Given the description of an element on the screen output the (x, y) to click on. 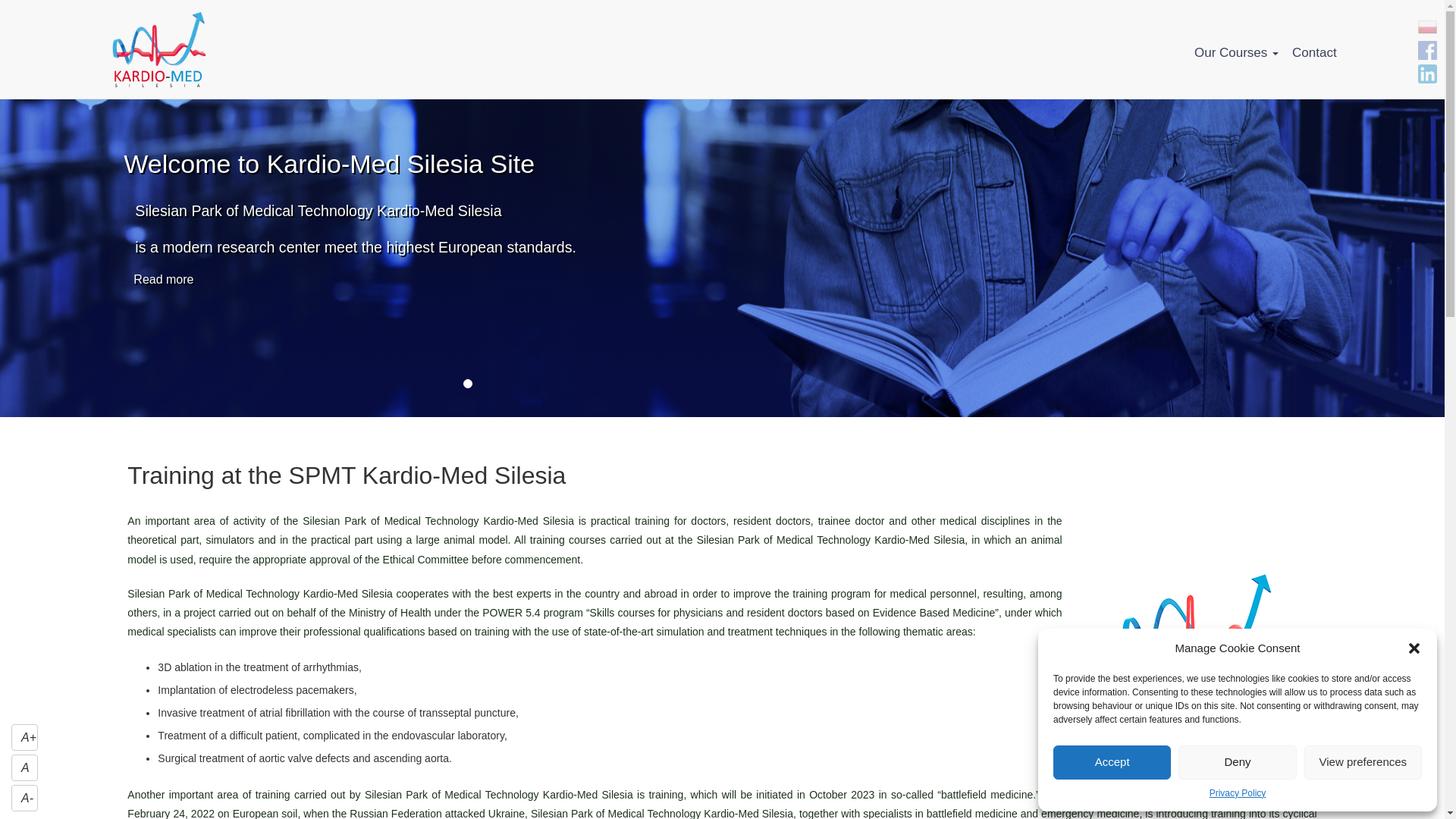
Deny (1236, 762)
A (24, 767)
Contact (1313, 52)
Privacy Policy (1237, 793)
Our Courses (1236, 52)
View preferences (1363, 762)
A- (24, 797)
Contact (1313, 52)
Accept (1111, 762)
Our Courses (1236, 52)
Read more (163, 280)
